Given the description of an element on the screen output the (x, y) to click on. 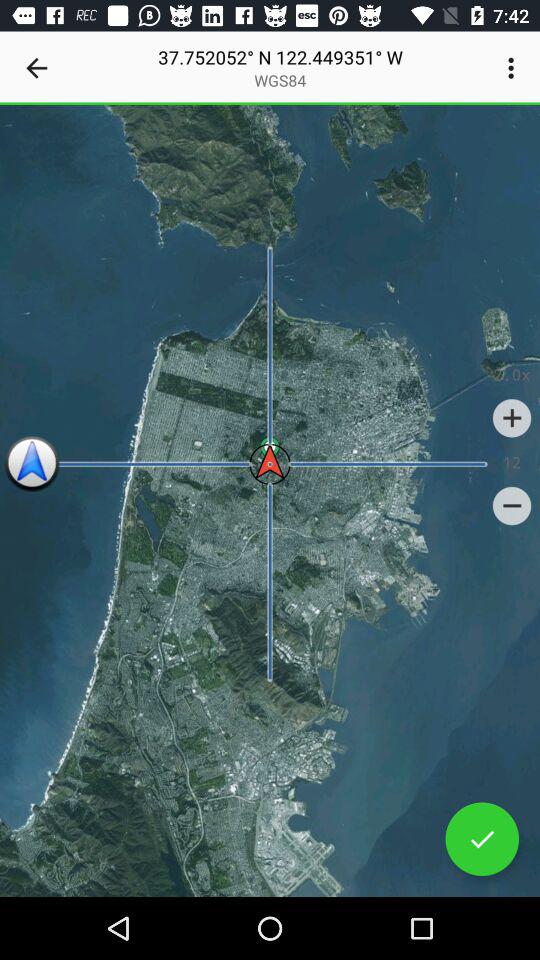
tap the icon at the top left corner (36, 67)
